Given the description of an element on the screen output the (x, y) to click on. 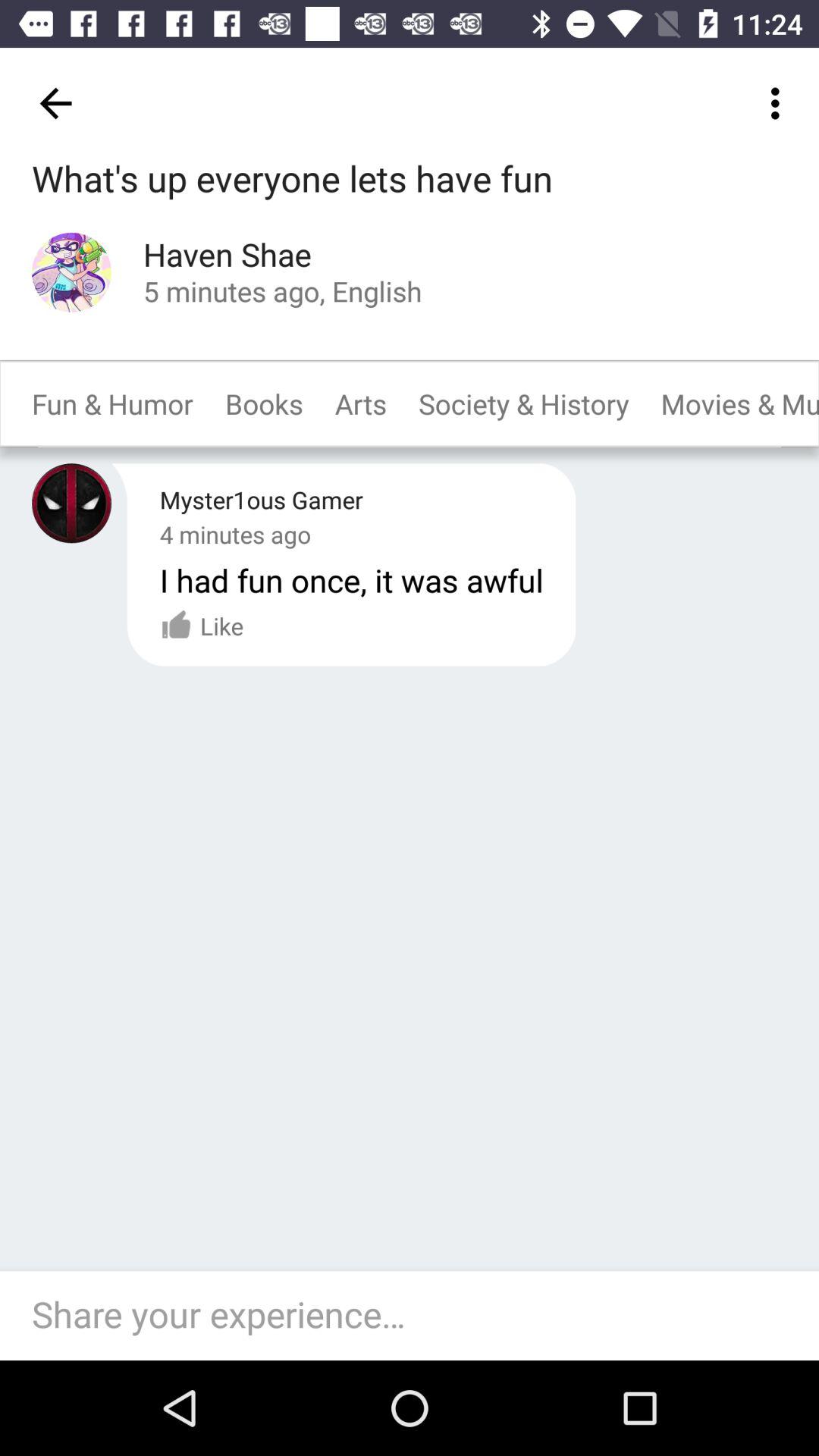
choose the item below the 4 minutes ago item (351, 579)
